Given the description of an element on the screen output the (x, y) to click on. 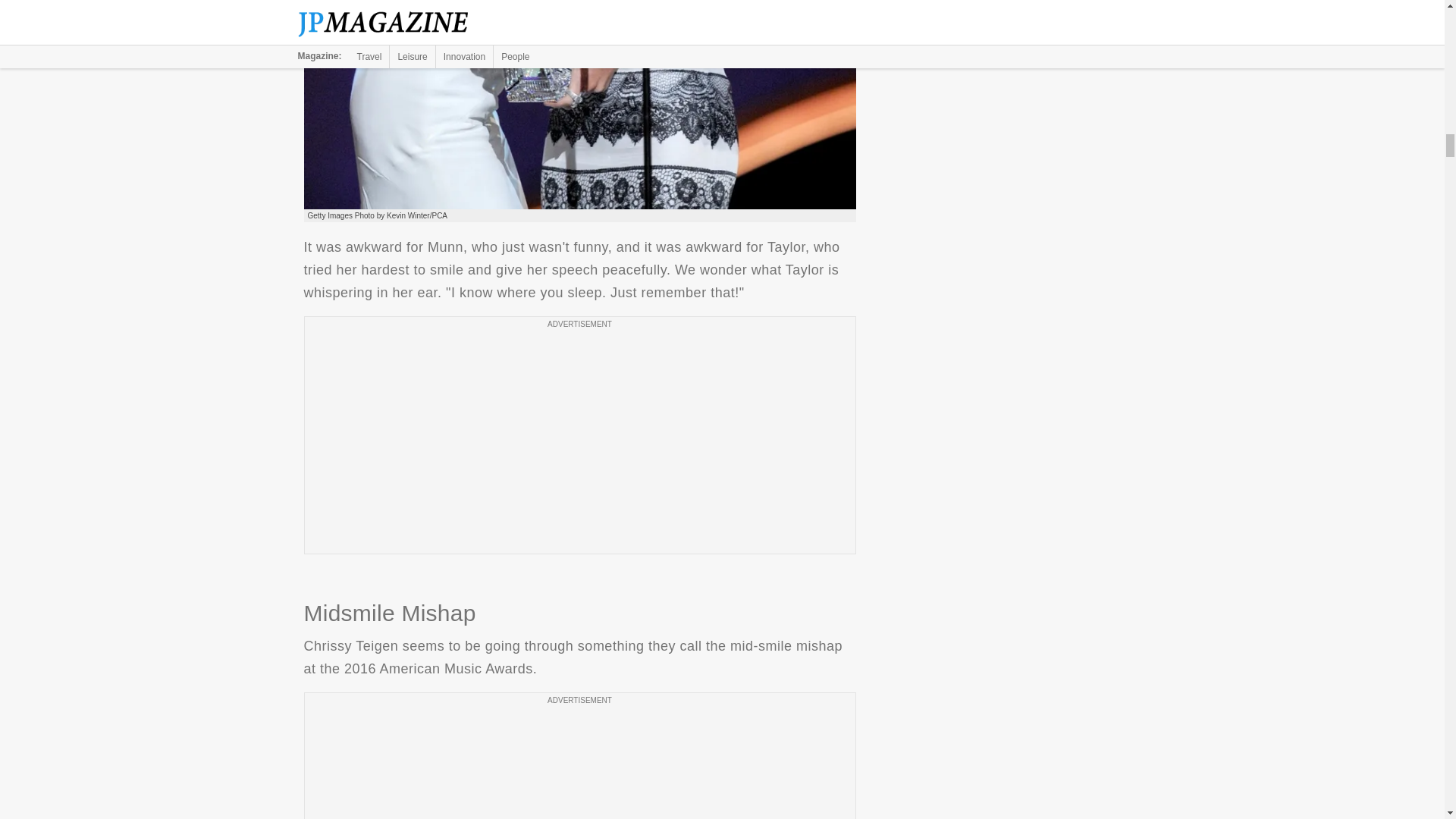
Resting Beef Face (579, 104)
